Given the description of an element on the screen output the (x, y) to click on. 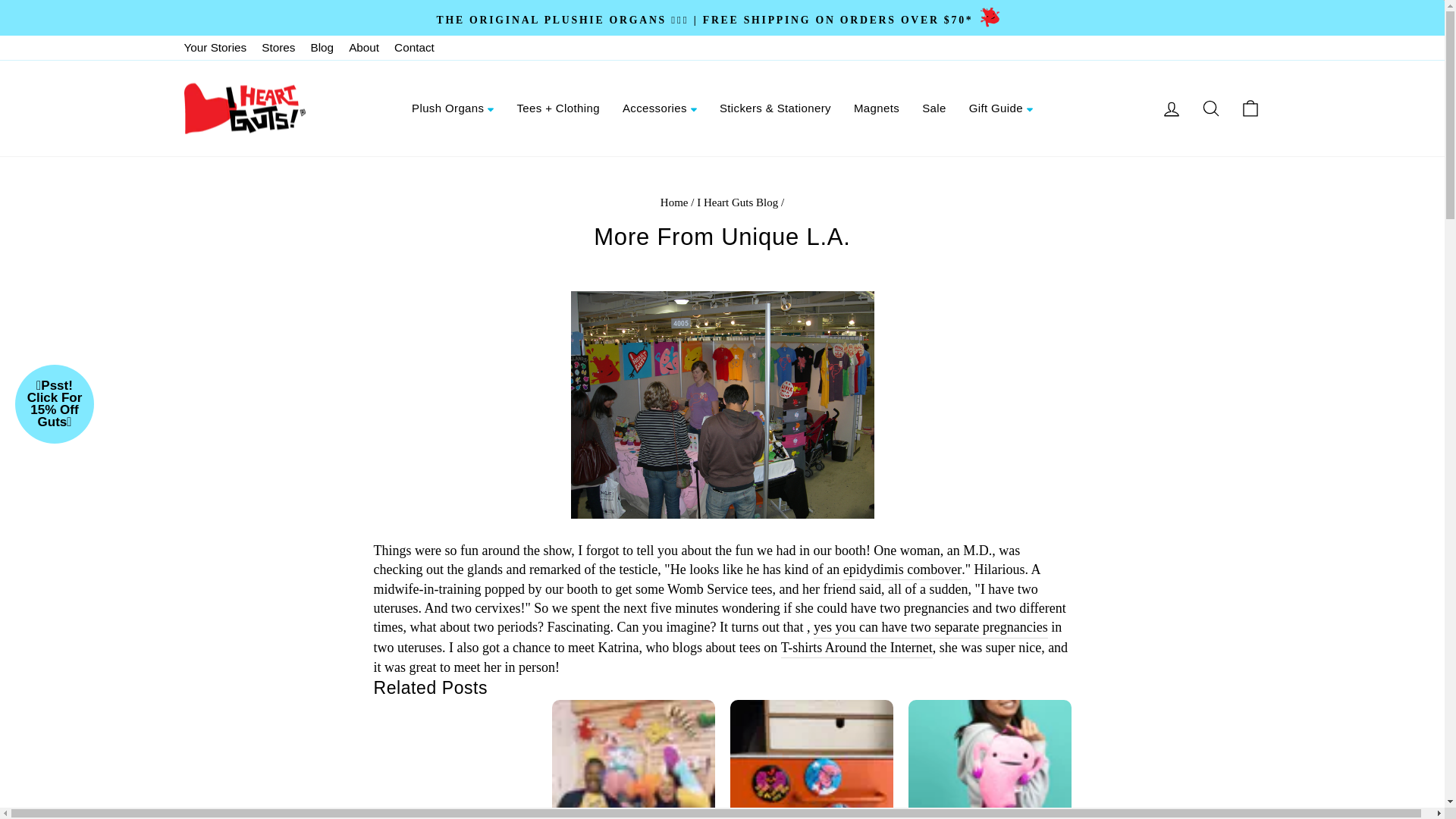
Back to the frontpage (674, 202)
dscn97981 (721, 404)
